Given the description of an element on the screen output the (x, y) to click on. 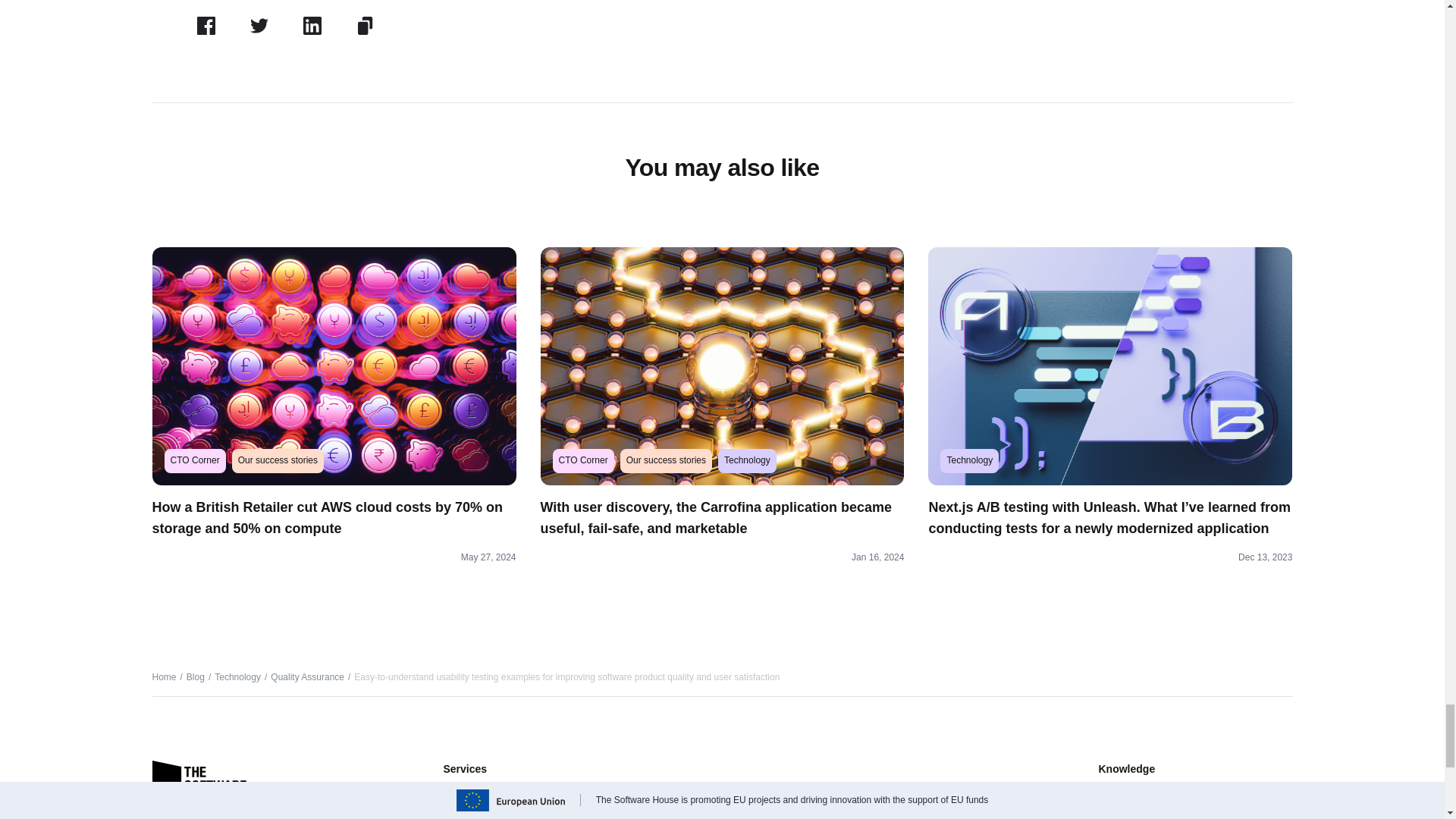
Go to the Technology category archives. (237, 676)
Go to the Quality Assurance category archives. (306, 676)
Go to Blog. (195, 676)
Go to Home. (163, 676)
